Given the description of an element on the screen output the (x, y) to click on. 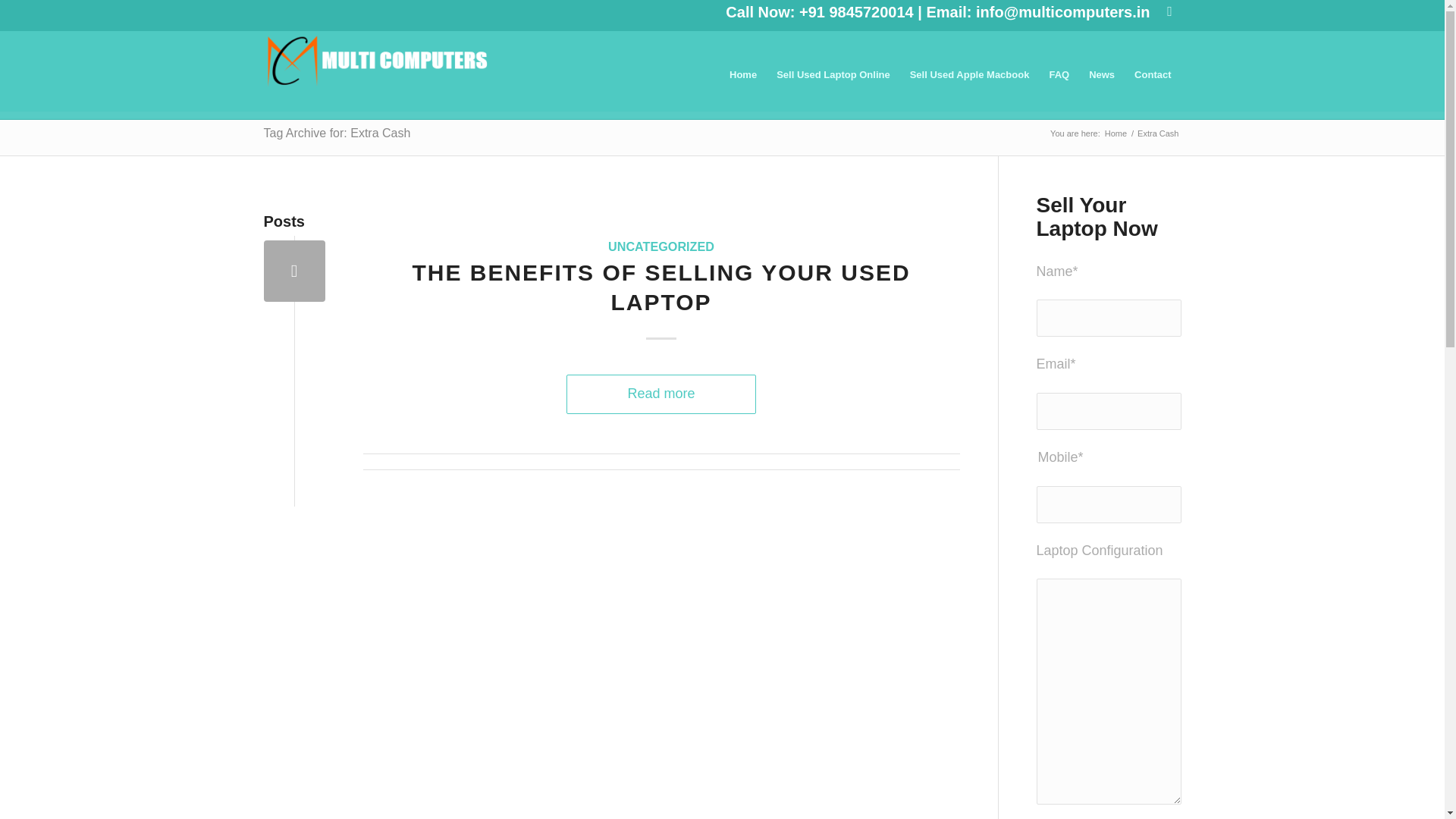
Permanent Link: Tag Archive for: Extra Cash (336, 132)
Sell Used Laptop Online (833, 74)
Home (1115, 133)
UNCATEGORIZED (661, 246)
Tag Archive for: Extra Cash (336, 132)
Sell Used Apple Macbook (969, 74)
News (1101, 74)
Home (743, 74)
Read more (660, 394)
Permanent Link: The Benefits of Selling Your Used Laptop (661, 287)
Facebook (1169, 11)
Multi Computers (1115, 133)
THE BENEFITS OF SELLING YOUR USED LAPTOP (661, 287)
The Benefits of Selling Your Used Laptop (293, 271)
Contact (1152, 74)
